Given the description of an element on the screen output the (x, y) to click on. 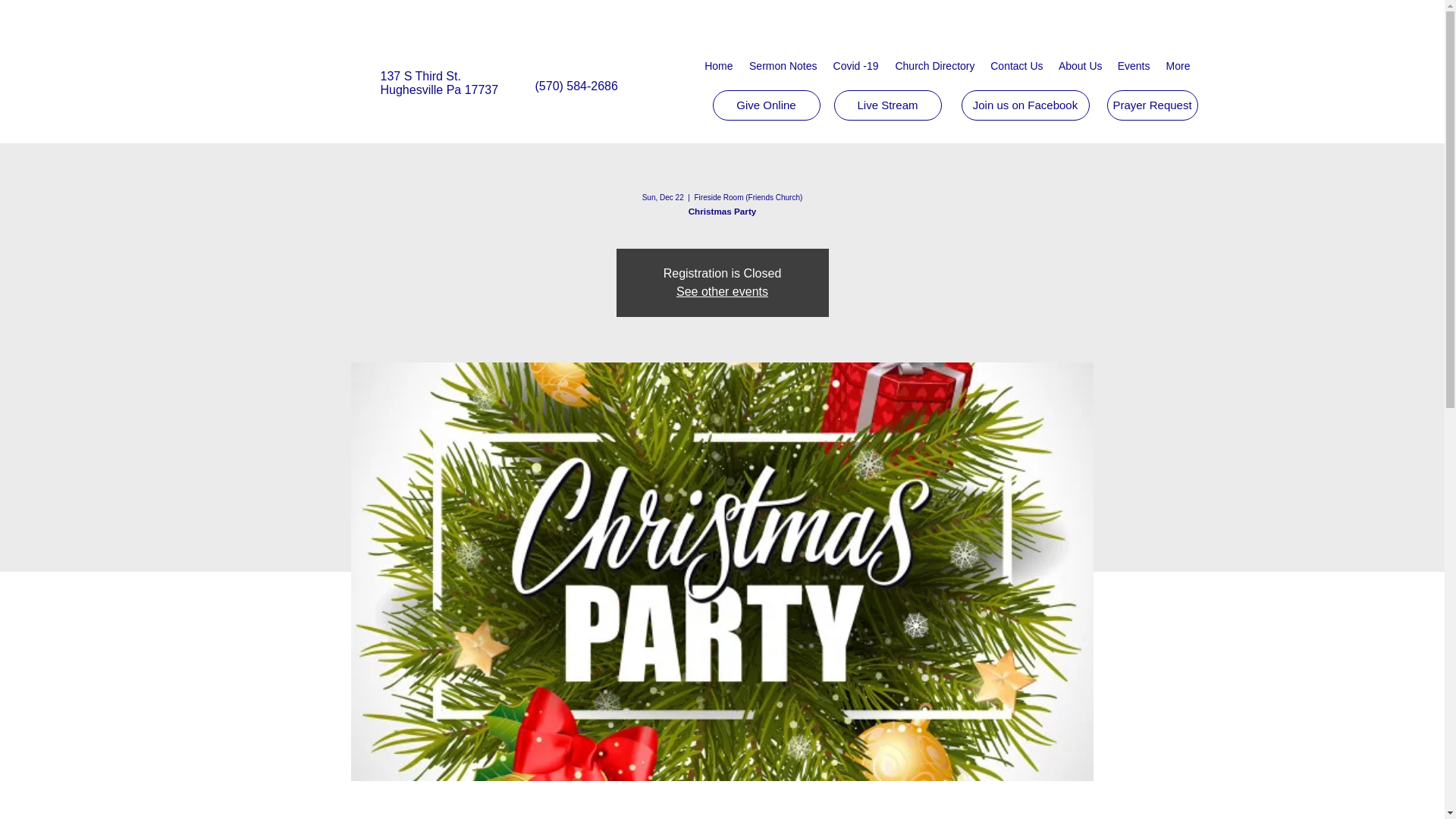
Home (717, 65)
Join us on Facebook (1024, 105)
About Us (1080, 65)
Prayer Request (1152, 105)
See other events (722, 291)
Give Online (767, 105)
Contact Us (1016, 65)
Covid -19 (855, 65)
Events (1133, 65)
Sermon Notes (781, 65)
Live Stream (888, 105)
Church Directory (933, 65)
